Given the description of an element on the screen output the (x, y) to click on. 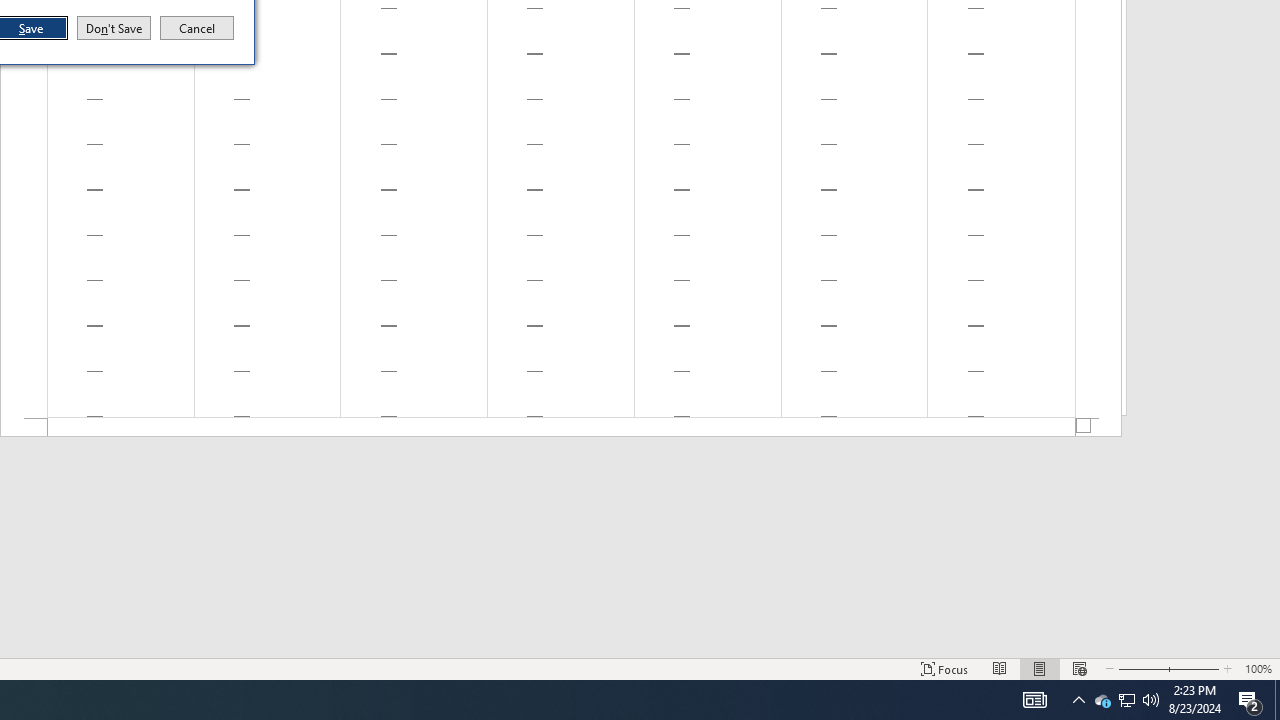
Don't Save (113, 27)
